Given the description of an element on the screen output the (x, y) to click on. 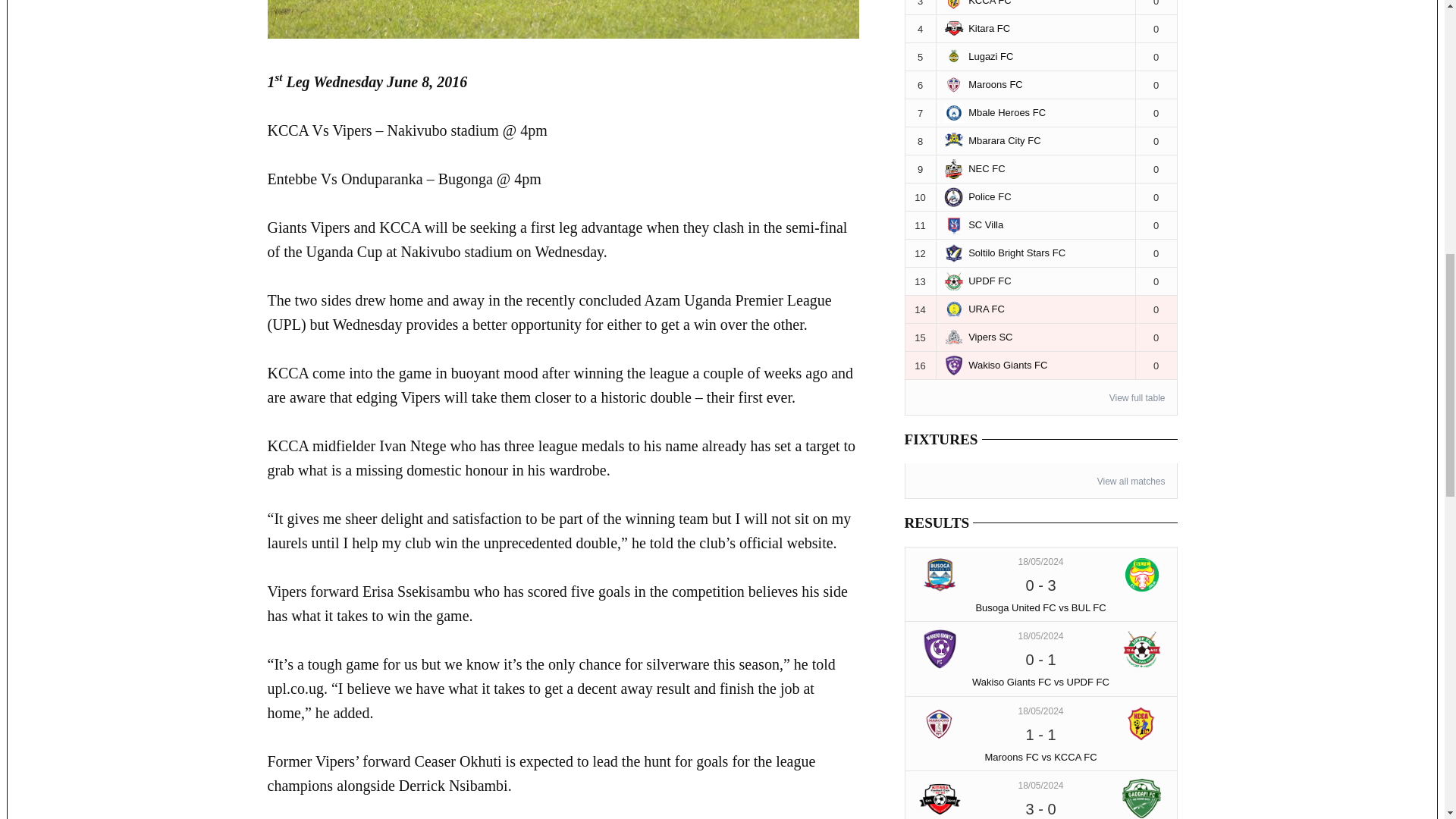
Kitara FC (940, 798)
Gaddafi FC (1142, 798)
KCCA FC (1142, 723)
UPDF FC (1142, 649)
BUL FC (1142, 574)
Maroons FC (940, 723)
Busoga United FC (940, 574)
Wakiso Giants FC (940, 649)
